Given the description of an element on the screen output the (x, y) to click on. 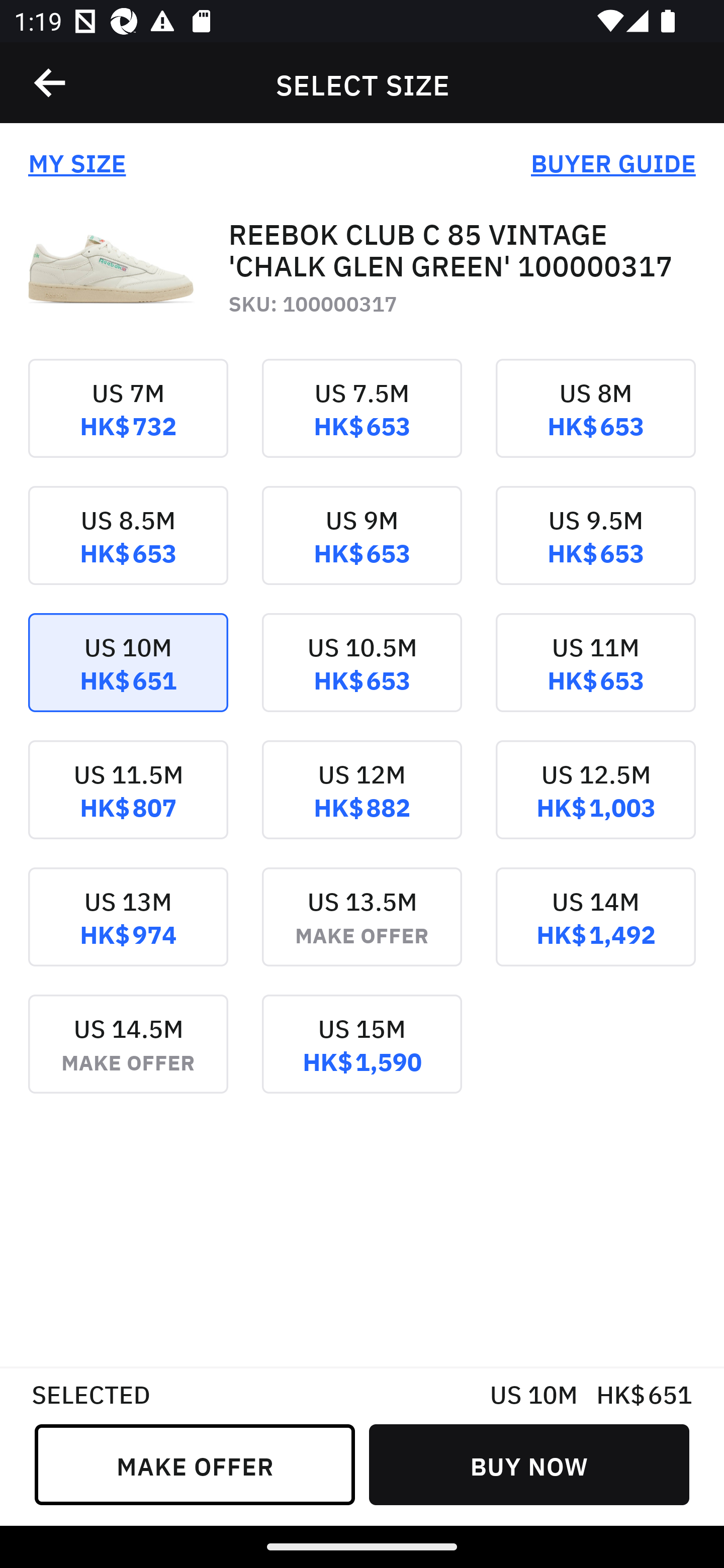
 (50, 83)
US 7M HK$ 732 (128, 422)
US 7.5M HK$ 653 (361, 422)
US 8M HK$ 653 (595, 422)
US 8.5M HK$ 653 (128, 549)
US 9M HK$ 653 (361, 549)
US 9.5M HK$ 653 (595, 549)
US 10M HK$ 651 (128, 676)
US 10.5M HK$ 653 (361, 676)
US 11M HK$ 653 (595, 676)
US 11.5M HK$ 807 (128, 803)
US 12M HK$ 882 (361, 803)
US 12.5M HK$ 1,003 (595, 803)
US 13M HK$ 974 (128, 930)
US 13.5M MAKE OFFER (361, 930)
US 14M HK$ 1,492 (595, 930)
US 14.5M MAKE OFFER (128, 1057)
US 15M HK$ 1,590 (361, 1057)
MAKE OFFER (194, 1464)
BUY NOW (529, 1464)
